Given the description of an element on the screen output the (x, y) to click on. 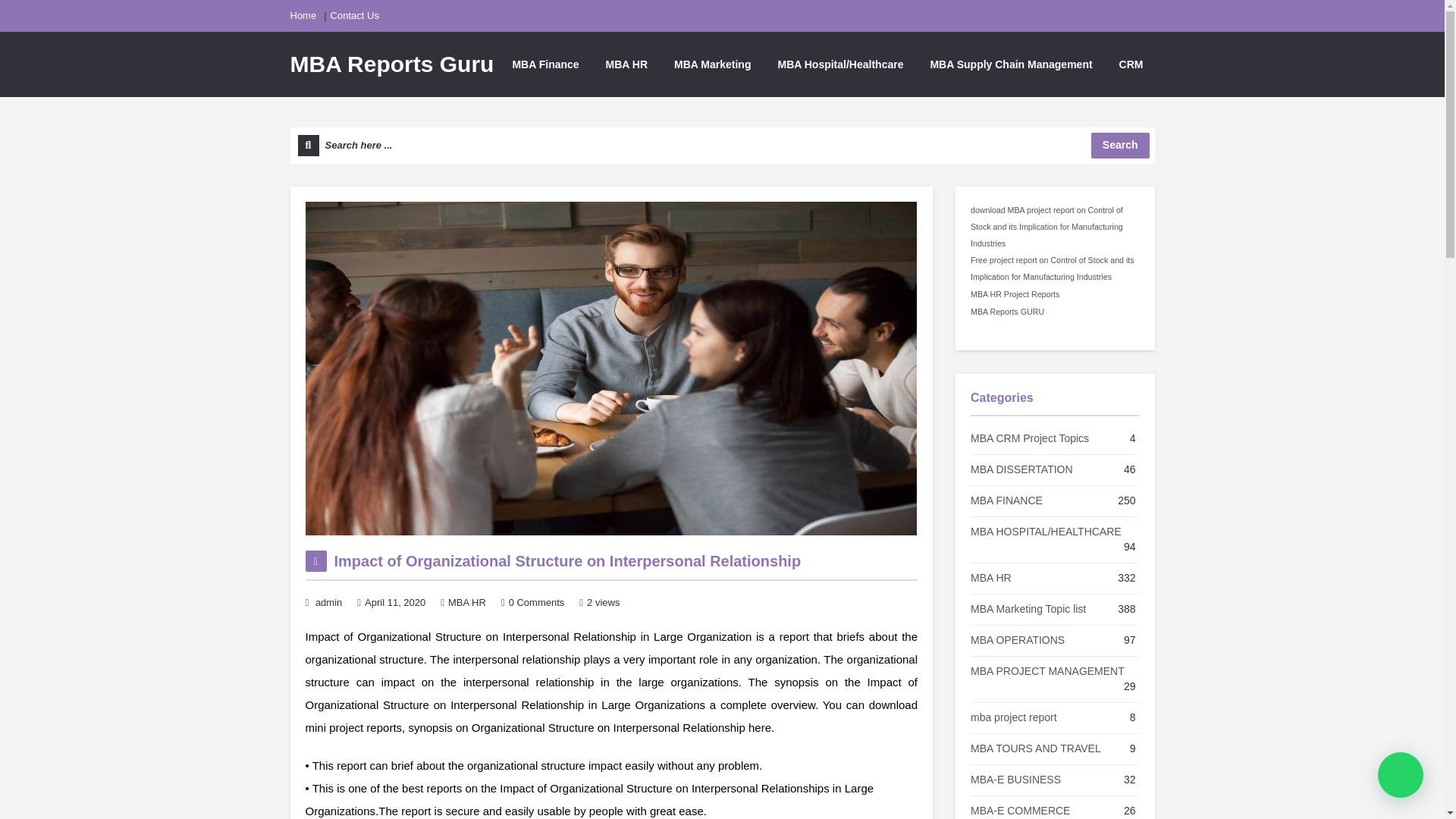
MBA HR (467, 602)
Search here ... (721, 145)
Search here ... (721, 145)
MBA Reports Guru (391, 63)
MBA Supply Chain Management (1010, 63)
Posts by admin (328, 602)
Home (302, 15)
Contact Us (354, 15)
MBA Finance (544, 63)
MBA HR (626, 63)
MBA Reports Guru (391, 63)
Search (1120, 145)
MBA Marketing (711, 63)
0 Comments (536, 602)
CRM (1131, 63)
